Given the description of an element on the screen output the (x, y) to click on. 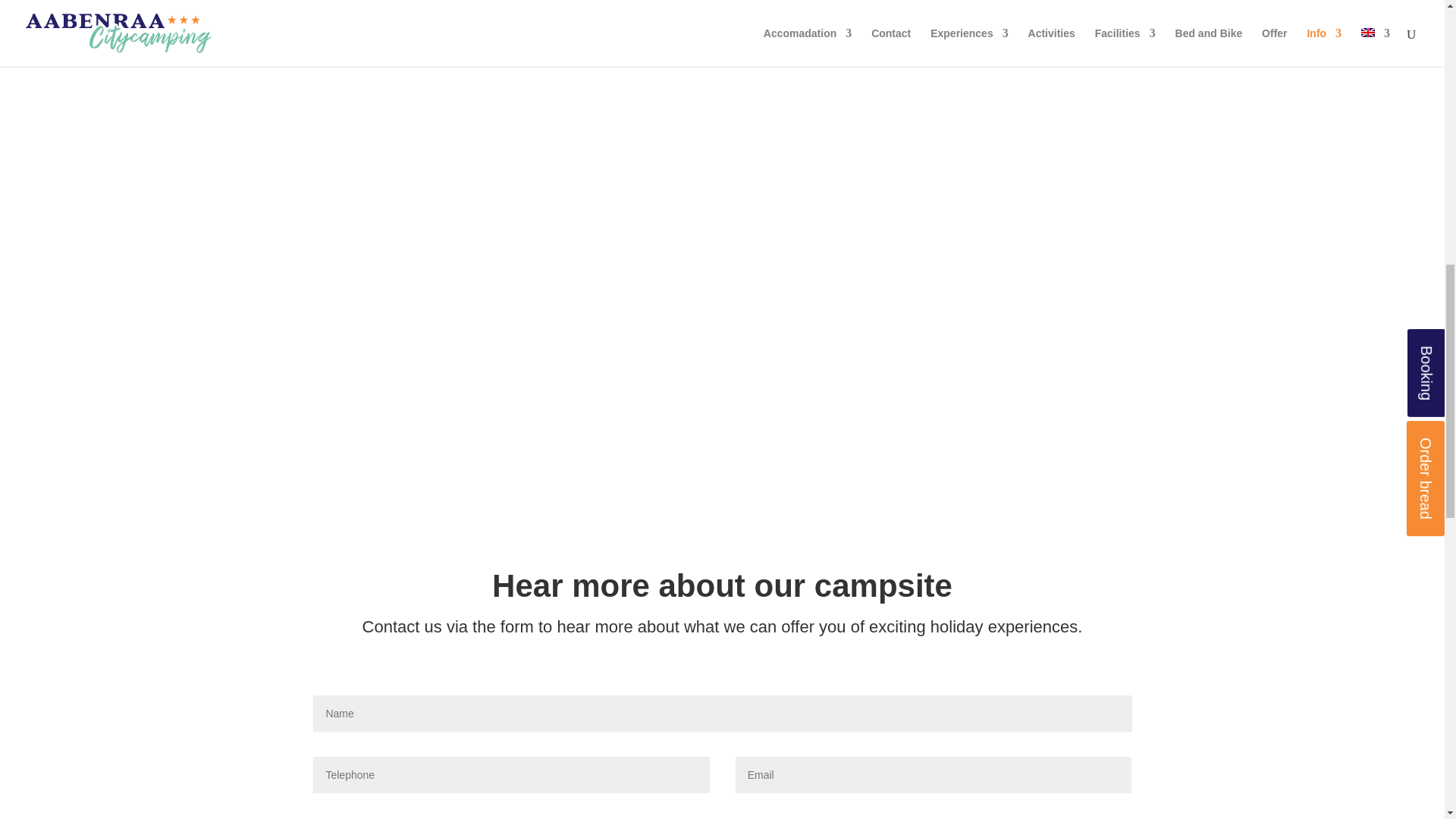
AabenraaVandrehjem (315, 65)
AabenraaVandrehjem1 (721, 65)
Only numbers allowed. (511, 774)
